Given the description of an element on the screen output the (x, y) to click on. 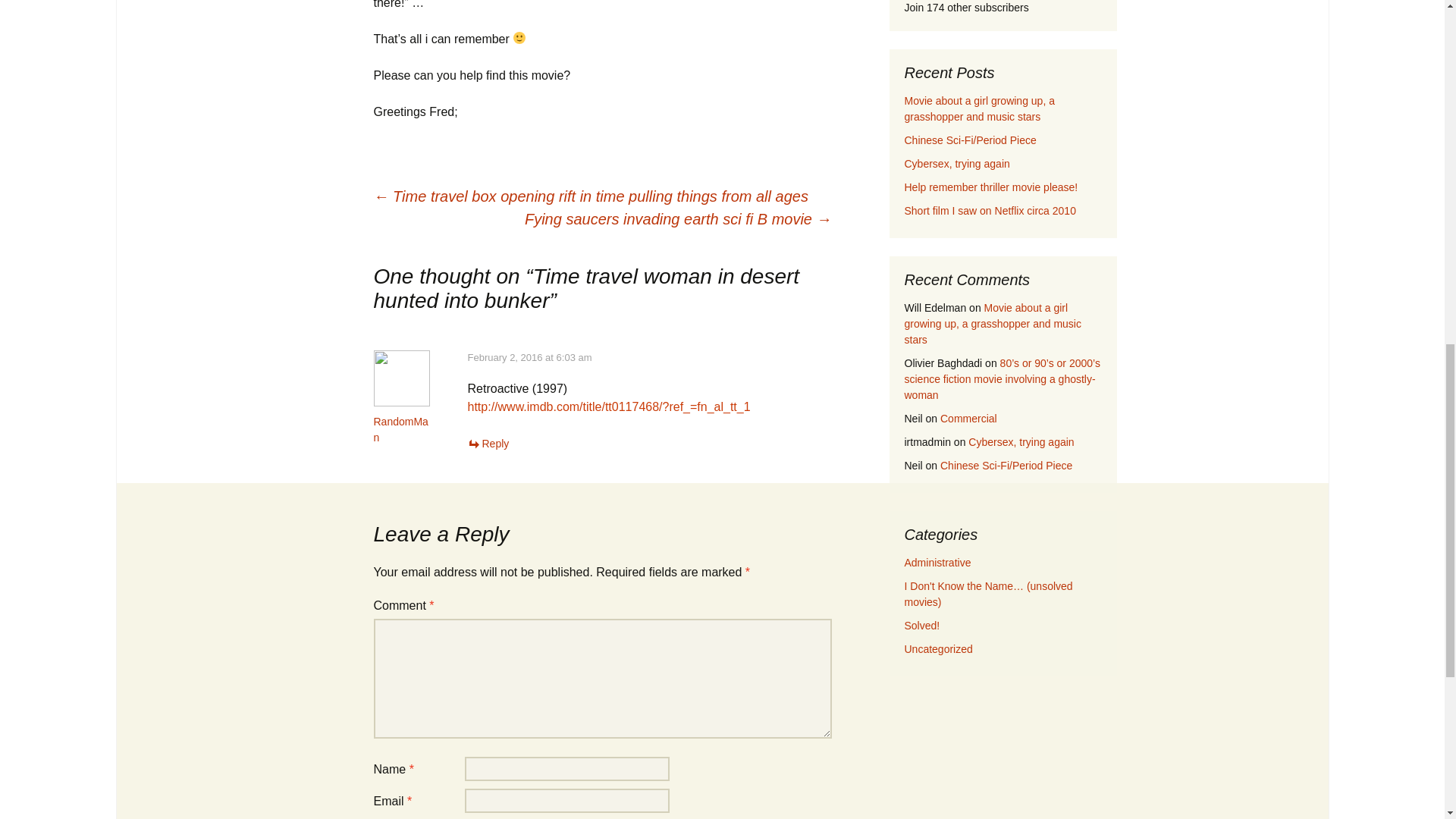
Cybersex, trying again (956, 163)
Movie about a girl growing up, a grasshopper and music stars (992, 323)
Solved! (921, 625)
Administrative (937, 562)
Cybersex, trying again (1021, 441)
Uncategorized (938, 648)
Short film I saw on Netflix circa 2010 (989, 210)
Help remember thriller movie please! (990, 186)
February 2, 2016 at 6:03 am (529, 357)
Movie about a girl growing up, a grasshopper and music stars (979, 108)
Commercial (968, 418)
Reply (487, 443)
